Given the description of an element on the screen output the (x, y) to click on. 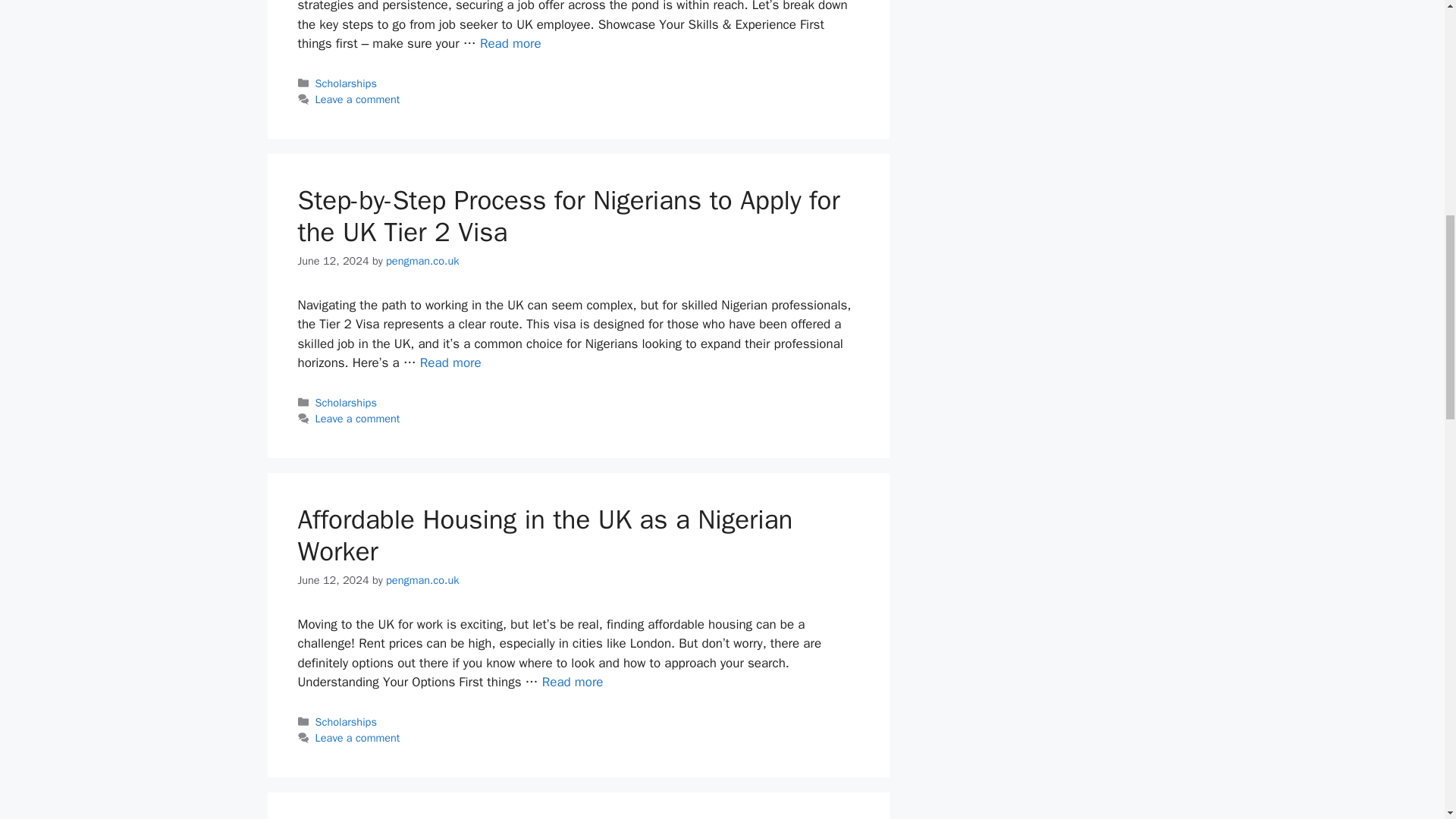
Read more (450, 362)
Read more (572, 682)
View all posts by pengman.co.uk (421, 580)
Scholarships (346, 83)
Scholarships (346, 402)
View all posts by pengman.co.uk (421, 260)
Read more (510, 43)
How to Secure a UK Job Offer from Nigeria (510, 43)
pengman.co.uk (421, 260)
Leave a comment (357, 418)
Scholarships (346, 721)
pengman.co.uk (421, 580)
Leave a comment (357, 99)
